Given the description of an element on the screen output the (x, y) to click on. 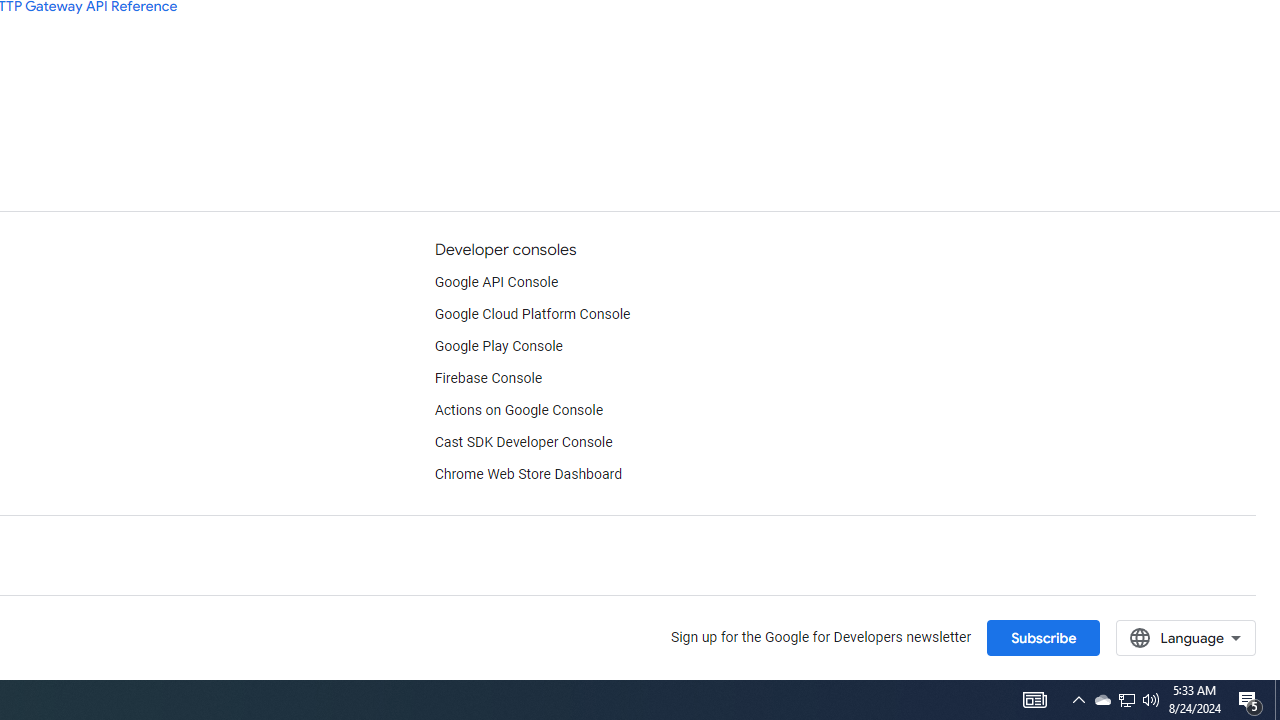
Subscribe (1043, 637)
Cast SDK Developer Console (523, 442)
Google API Console (496, 282)
Google Play Console (498, 346)
Chrome Web Store Dashboard (528, 475)
Firebase Console (487, 378)
Actions on Google Console (518, 410)
Google Cloud Platform Console (532, 314)
Language (1185, 637)
